Given the description of an element on the screen output the (x, y) to click on. 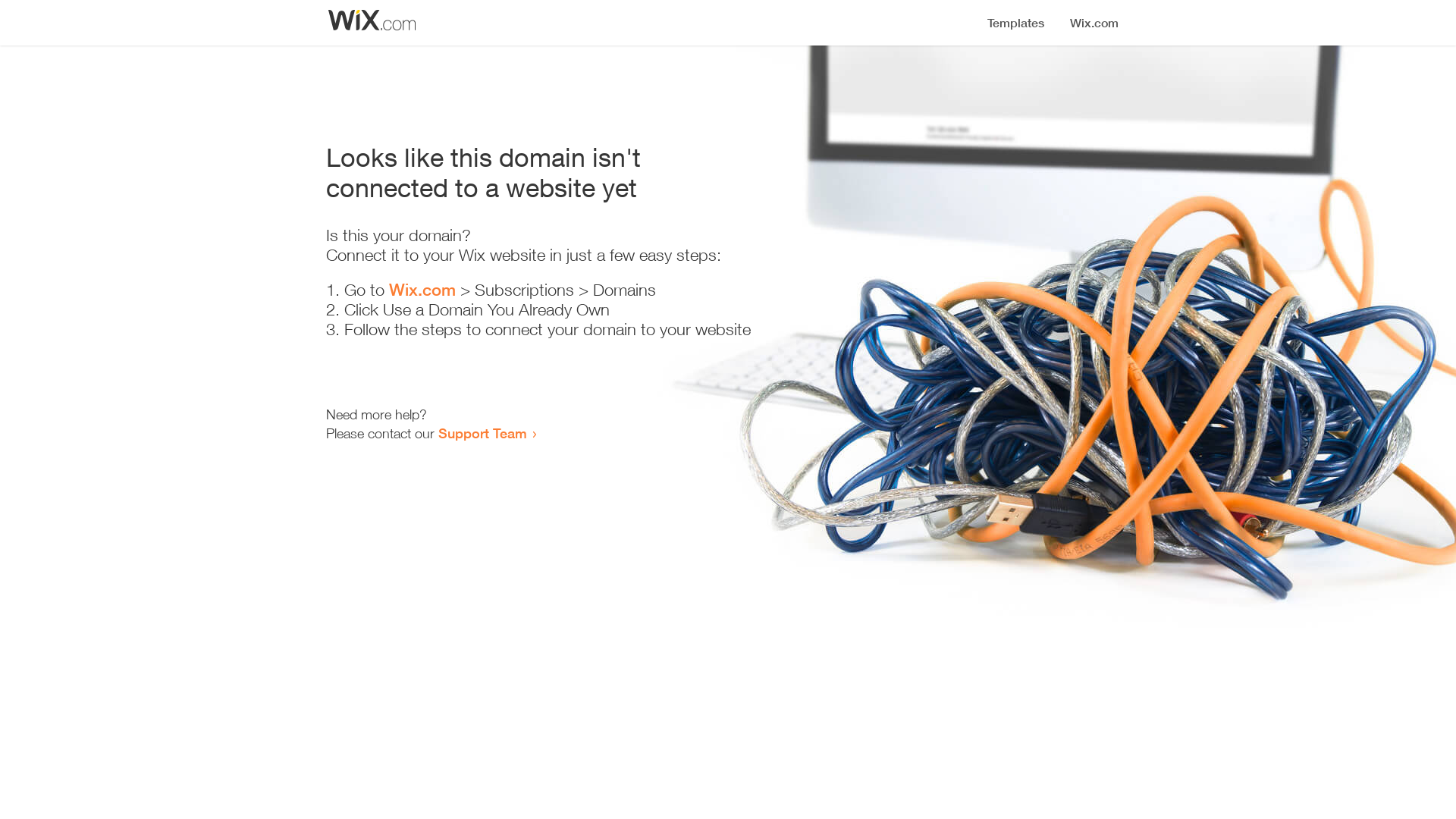
Support Team Element type: text (482, 432)
Wix.com Element type: text (422, 289)
